Given the description of an element on the screen output the (x, y) to click on. 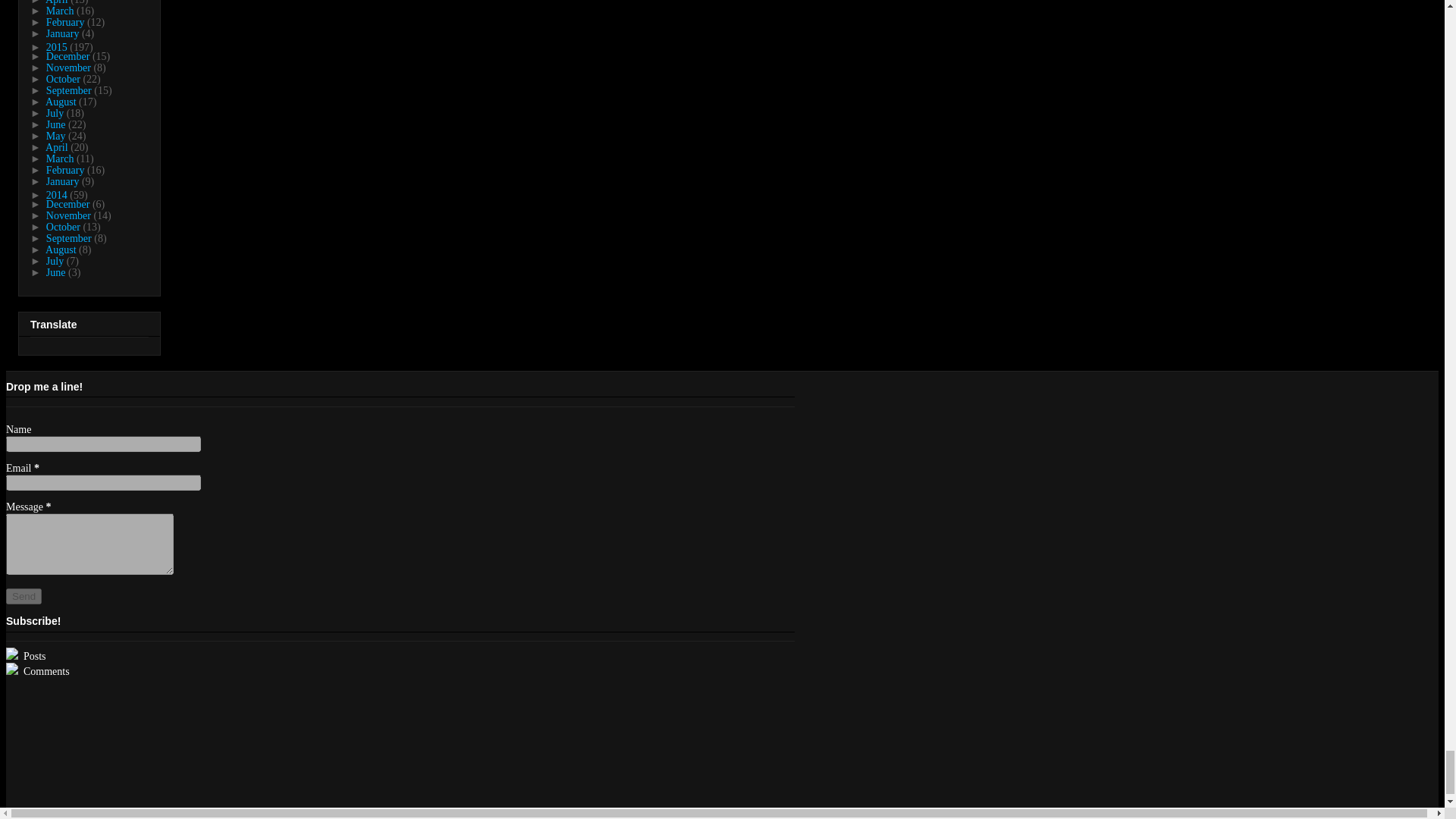
Send (23, 596)
